Given the description of an element on the screen output the (x, y) to click on. 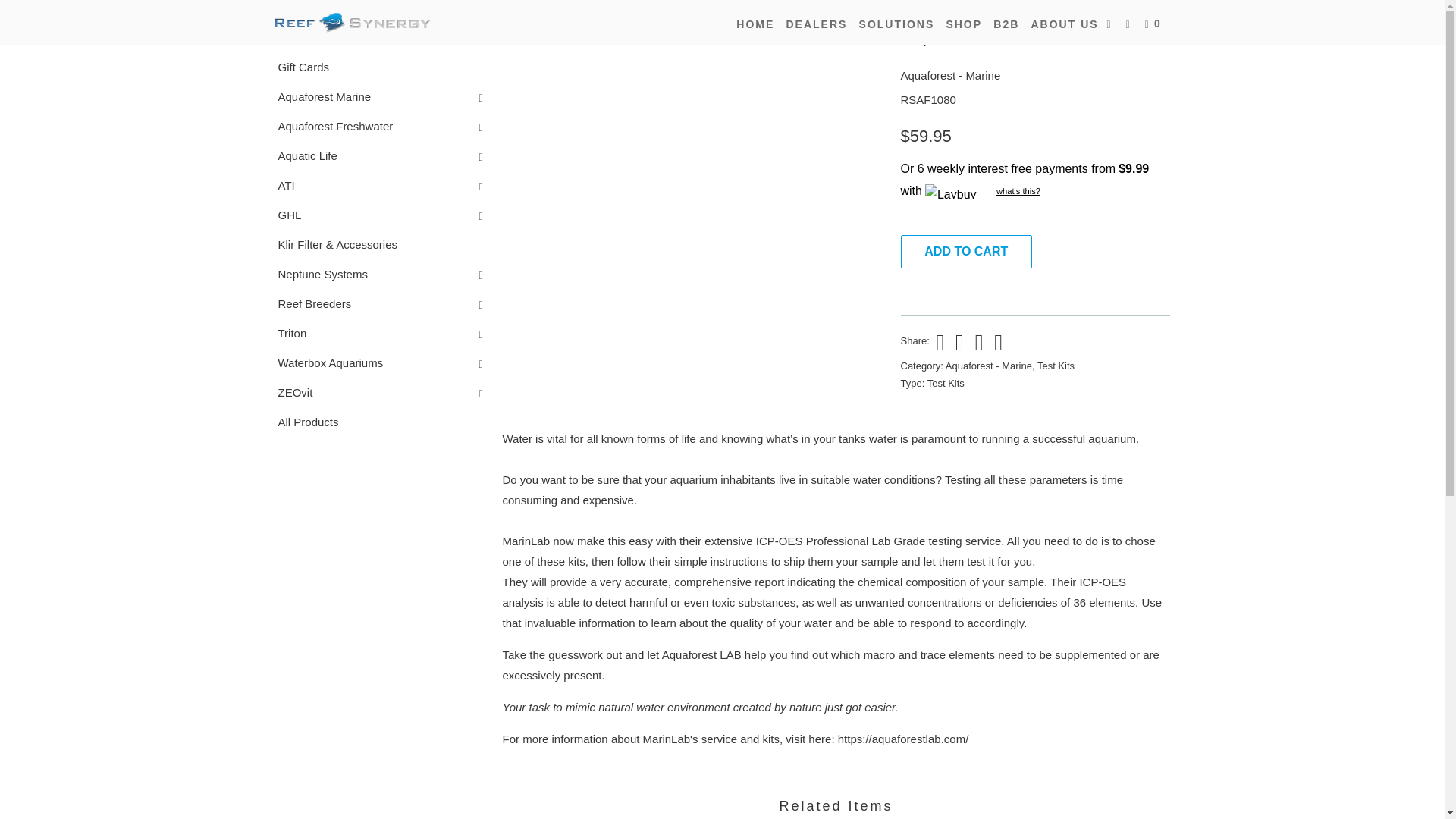
HOME (755, 23)
SOLUTIONS (896, 23)
Products tagged Test Kits (1055, 365)
Aquaforest Marine (319, 96)
Aquaforest ICP Test 1 (693, 25)
Aquaforest - Marine (951, 74)
Aquaforest ICP Test 1 (310, 25)
Reef Synergy Ltd (352, 22)
Aquaforest Freshwater (330, 126)
Test Kits (945, 383)
DEALERS (816, 23)
Gift Cards (298, 66)
0 (1154, 24)
ABOUT US (1063, 23)
B2B (1006, 23)
